Given the description of an element on the screen output the (x, y) to click on. 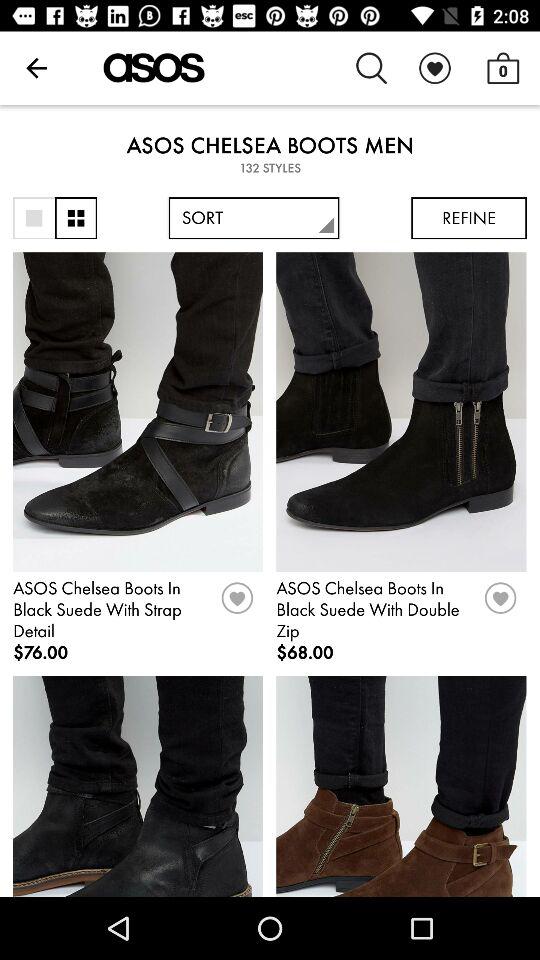
open the icon above asos chelsea boots icon (36, 68)
